Given the description of an element on the screen output the (x, y) to click on. 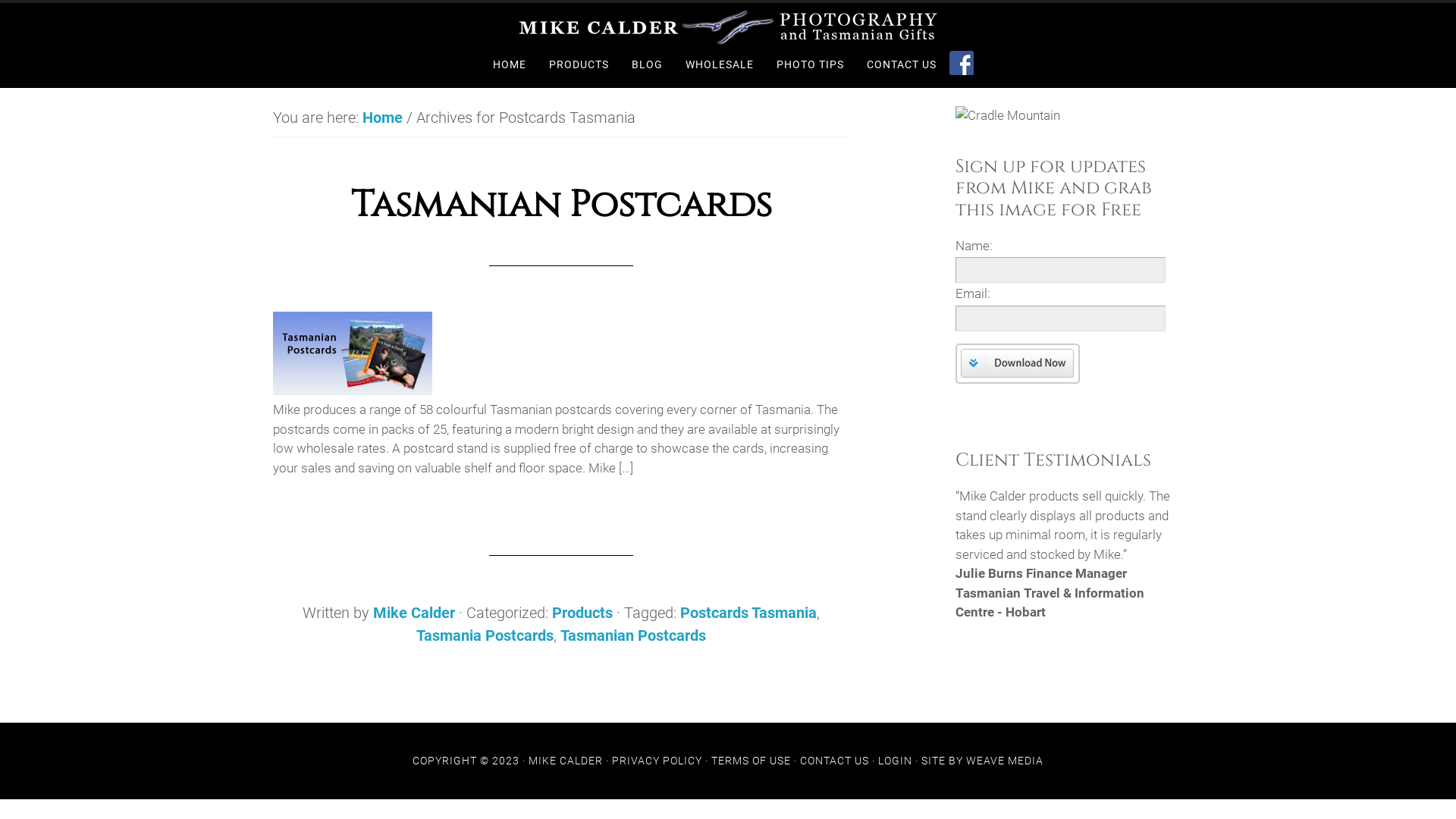
Products Element type: text (582, 612)
Tasmania Postcards Element type: text (484, 635)
MIKE CALDER Element type: text (565, 760)
BLOG Element type: text (646, 64)
PRODUCTS Element type: text (578, 64)
CONTACT US Element type: text (834, 760)
Tasmanian Postcards Element type: text (633, 635)
PRIVACY POLICY Element type: text (656, 760)
WHOLESALE Element type: text (718, 64)
CONTACT US Element type: text (901, 64)
TERMS OF USE Element type: text (750, 760)
PHOTO TIPS Element type: text (809, 64)
Mike Calder Element type: text (414, 612)
HOME Element type: text (508, 64)
Tasmanian Postcards Element type: text (560, 204)
SITE BY WEAVE MEDIA Element type: text (982, 760)
Home Element type: text (382, 117)
LOGIN Element type: text (895, 760)
Postcards Tasmania Element type: text (748, 612)
